Given the description of an element on the screen output the (x, y) to click on. 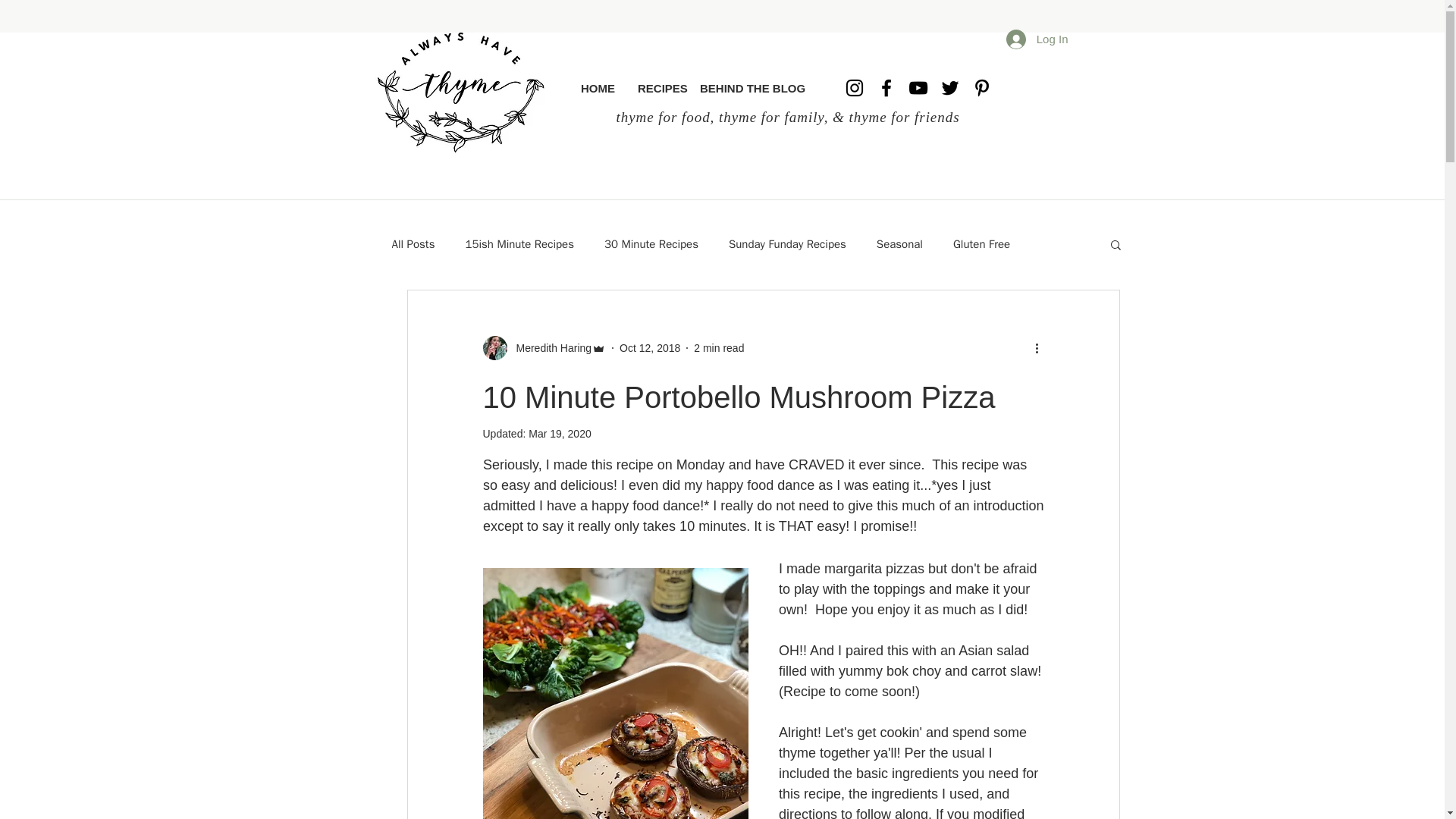
30 Minute Recipes (651, 243)
All Posts (412, 243)
Gluten Free (981, 243)
RECIPES (657, 87)
Meredith Haring (548, 347)
BEHIND THE BLOG (748, 87)
15ish Minute Recipes (518, 243)
2 min read (719, 346)
Seasonal (899, 243)
Mar 19, 2020 (559, 433)
Log In (1036, 38)
Sunday Funday Recipes (787, 243)
HOME (597, 87)
Oct 12, 2018 (649, 346)
